Given the description of an element on the screen output the (x, y) to click on. 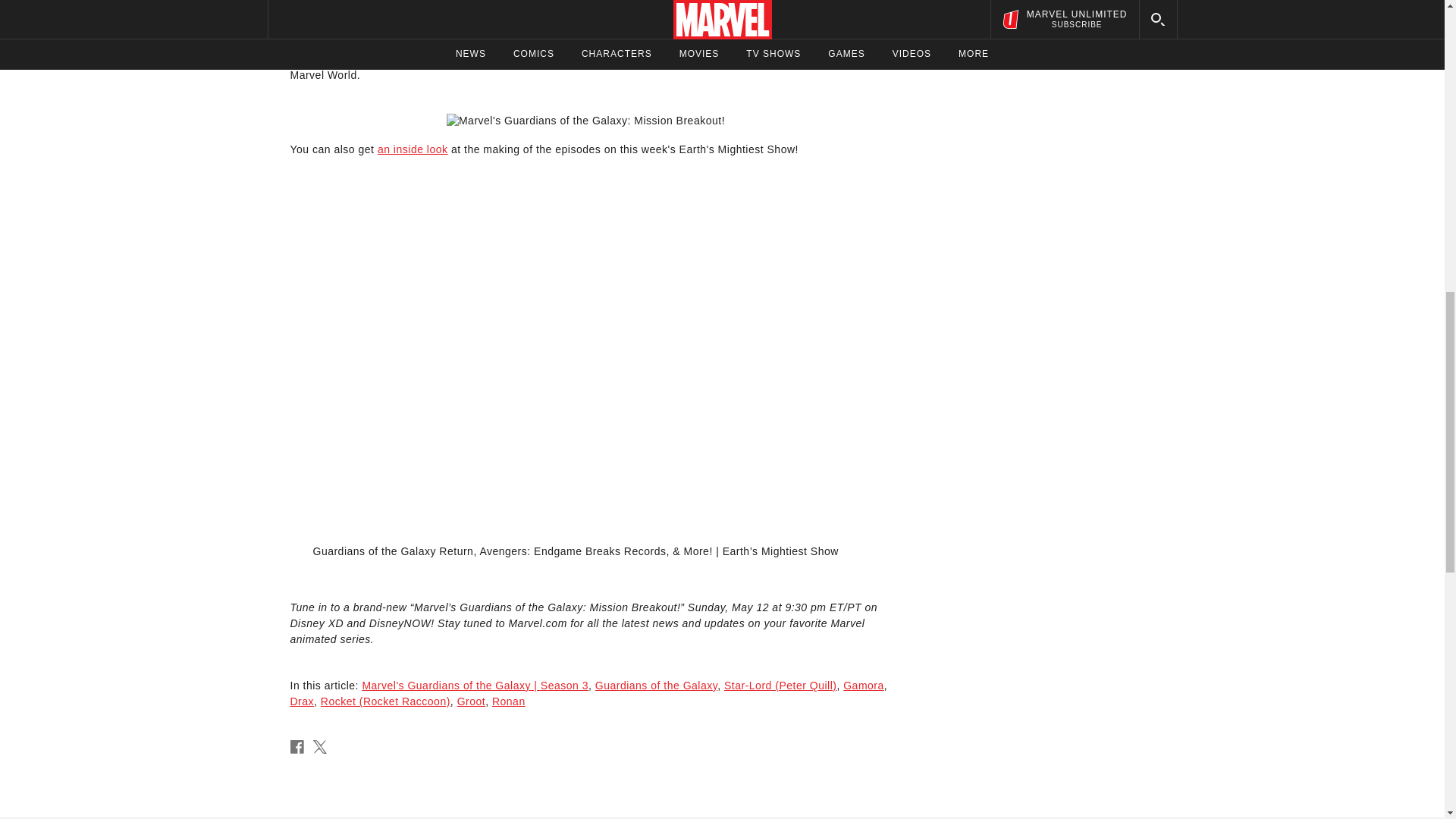
Drax (683, 8)
Groot (631, 8)
an inside look (412, 149)
Groot (471, 701)
Gamora (589, 59)
Drax (301, 701)
Guardians of the Galaxy (656, 685)
Ronan (508, 701)
Gamora (863, 685)
Quill (496, 8)
